Given the description of an element on the screen output the (x, y) to click on. 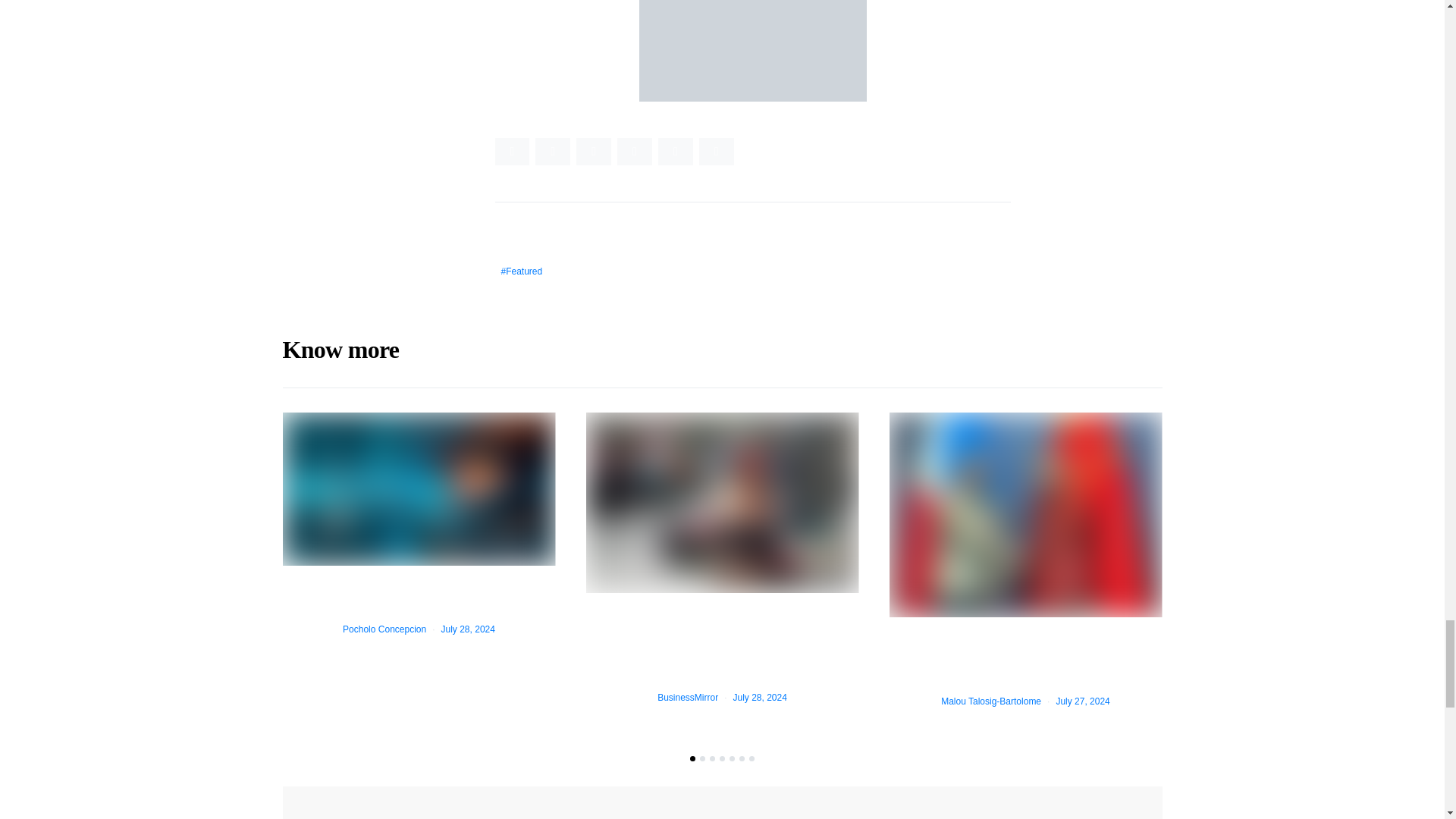
View all posts by Pocholo Concepcion (384, 629)
View all posts by BusinessMirror (687, 697)
View all posts by Malou Talosig-Bartolome (990, 701)
